Given the description of an element on the screen output the (x, y) to click on. 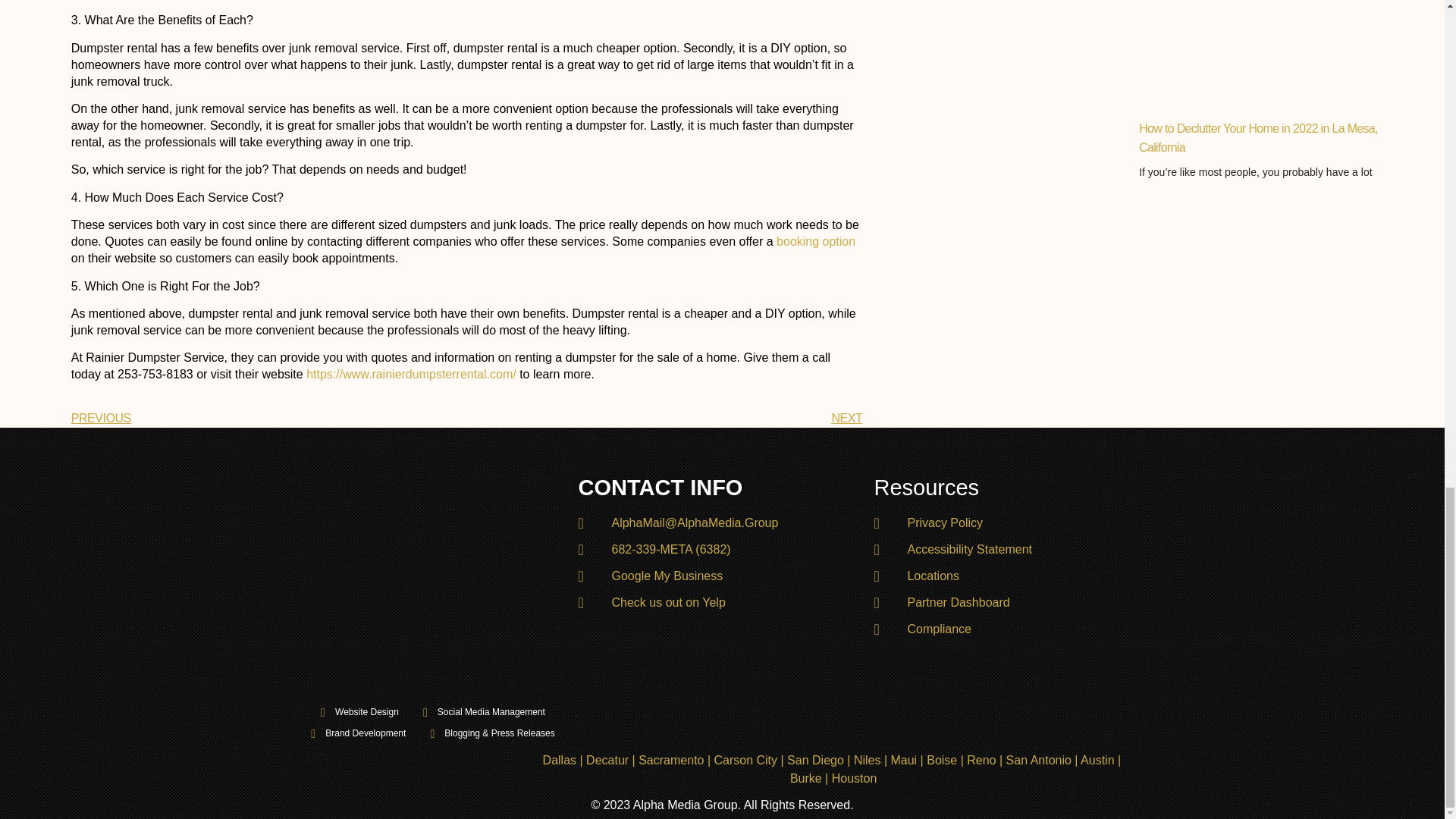
NEXT (846, 418)
booking option (816, 241)
PREVIOUS (269, 418)
